Given the description of an element on the screen output the (x, y) to click on. 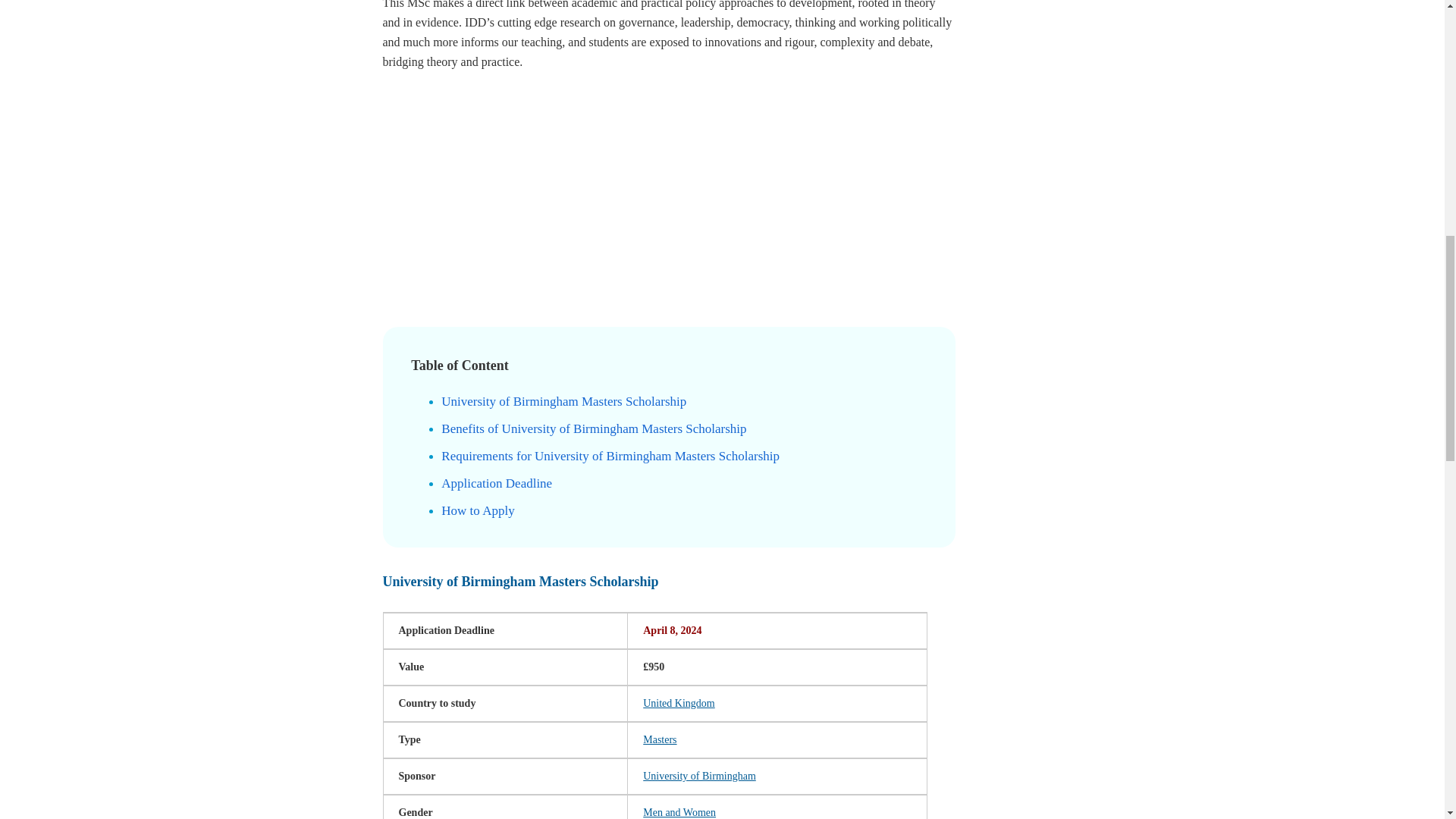
Men and Women (679, 812)
How to Apply (477, 510)
United Kingdom (678, 703)
University of Birmingham Masters Scholarship (563, 400)
Masters Scholarships (660, 739)
Masters (660, 739)
Application Deadline (496, 482)
University of Birmingham (699, 776)
Benefits of University of Birmingham Masters Scholarship (593, 428)
